Given the description of an element on the screen output the (x, y) to click on. 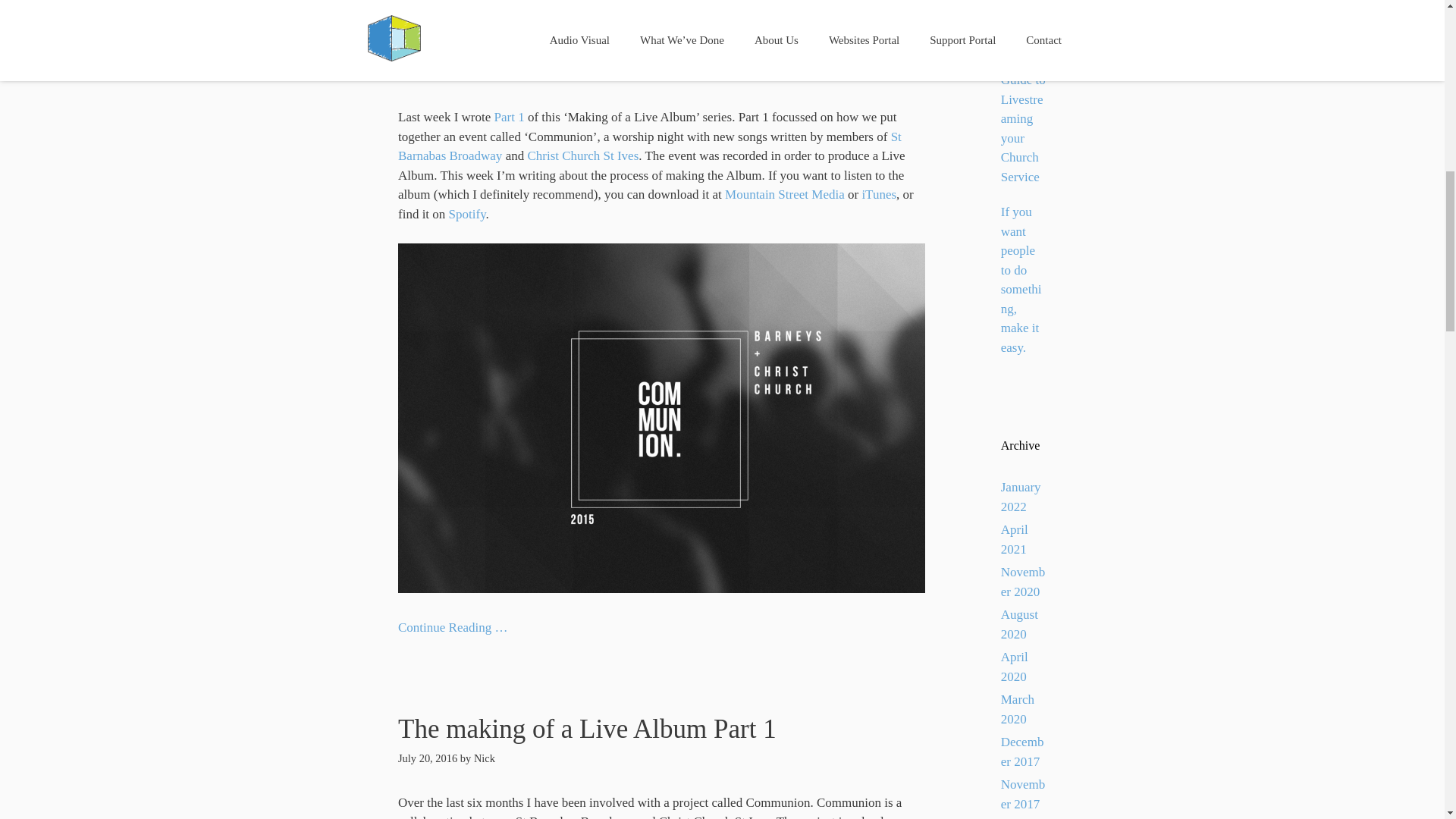
St Barnabas Broadway (649, 146)
Part 1 (509, 116)
The making of a Live Album Part 2 (586, 43)
View all posts by Nick (484, 73)
View all posts by Nick (484, 758)
iTunes (878, 194)
Spotify (467, 214)
The making of a Live Album Part 1 (586, 728)
Christ Church St Ives (583, 155)
Mountain Street Media (784, 194)
Nick (484, 73)
Nick (484, 758)
